Given the description of an element on the screen output the (x, y) to click on. 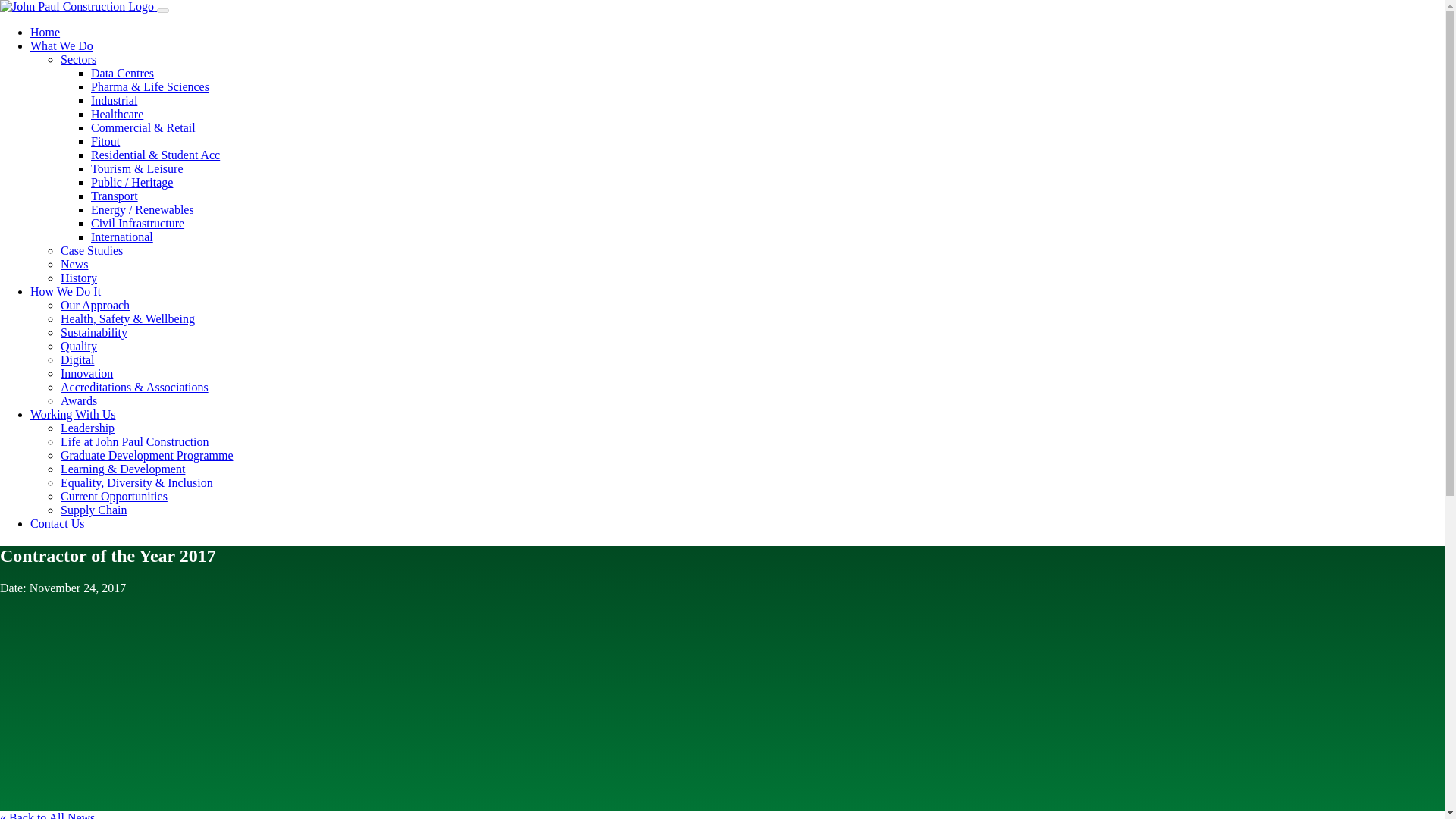
Innovation (87, 373)
Case Studies (91, 250)
Sustainability (94, 332)
Civil Infrastructure (137, 223)
Sectors (78, 59)
Fitout (104, 141)
History (79, 277)
International (121, 236)
Quality (79, 345)
How We Do It (65, 291)
